Given the description of an element on the screen output the (x, y) to click on. 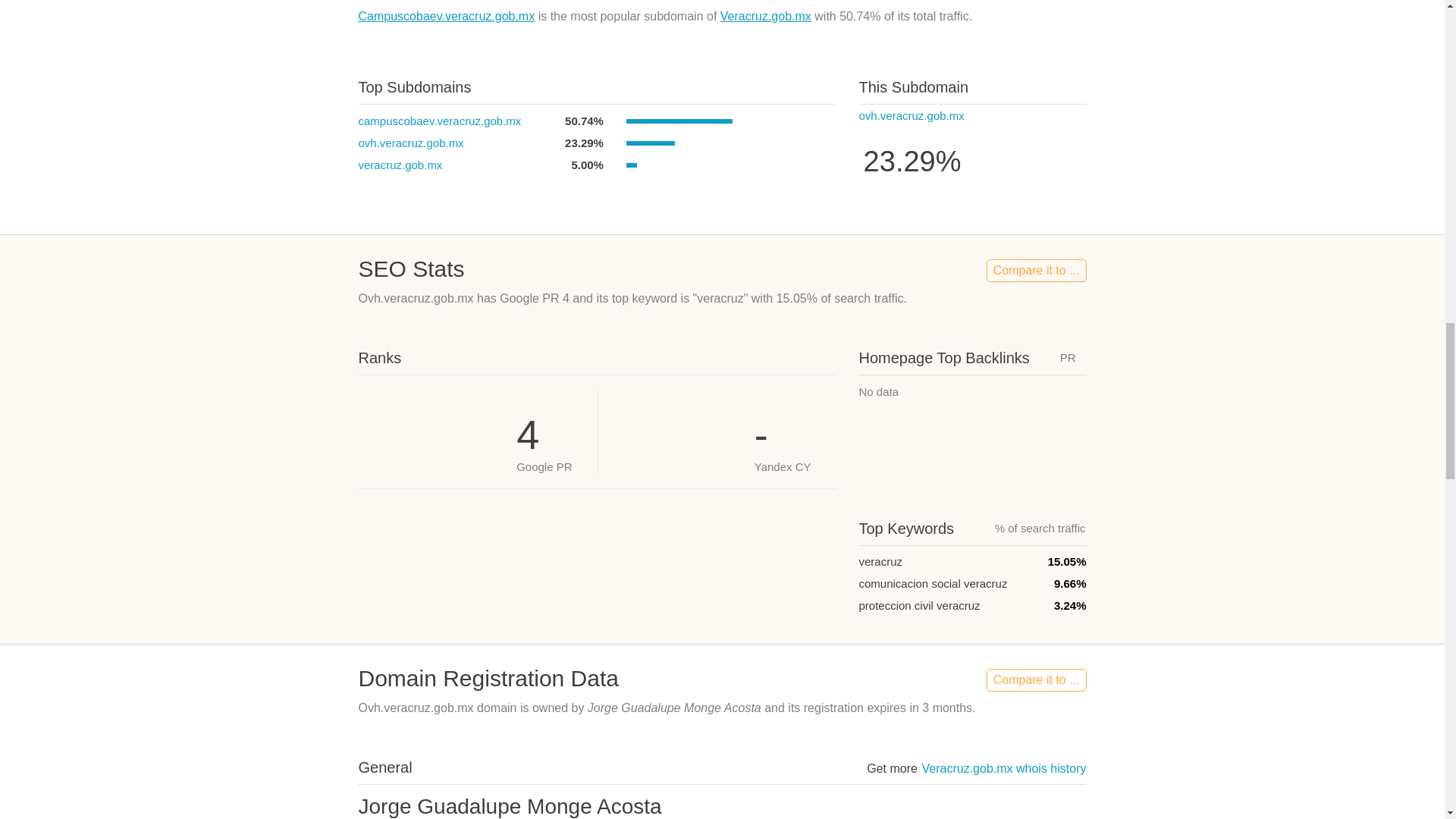
Veracruz.gob.mx whois history (1003, 768)
veracruz.gob.mx (400, 164)
Compare it to ... (1036, 270)
Campuscobaev.veracruz.gob.mx (446, 15)
ovh.veracruz.gob.mx (911, 115)
campuscobaev.veracruz.gob.mx (439, 120)
ovh.veracruz.gob.mx (410, 142)
Compare it to ... (1036, 680)
Veracruz.gob.mx (765, 15)
